Given the description of an element on the screen output the (x, y) to click on. 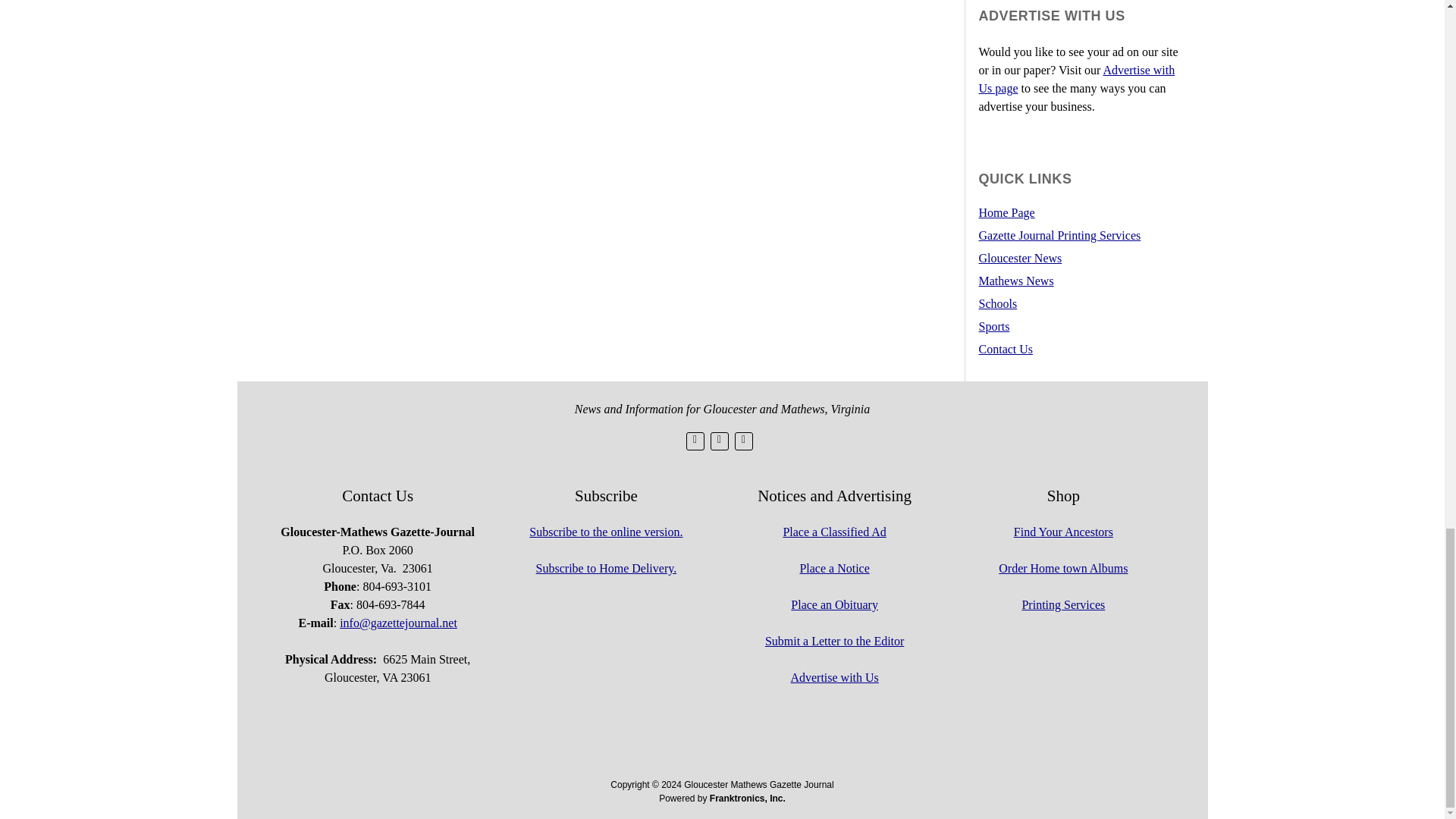
instagram (742, 441)
facebook (719, 441)
twitter (694, 441)
